Given the description of an element on the screen output the (x, y) to click on. 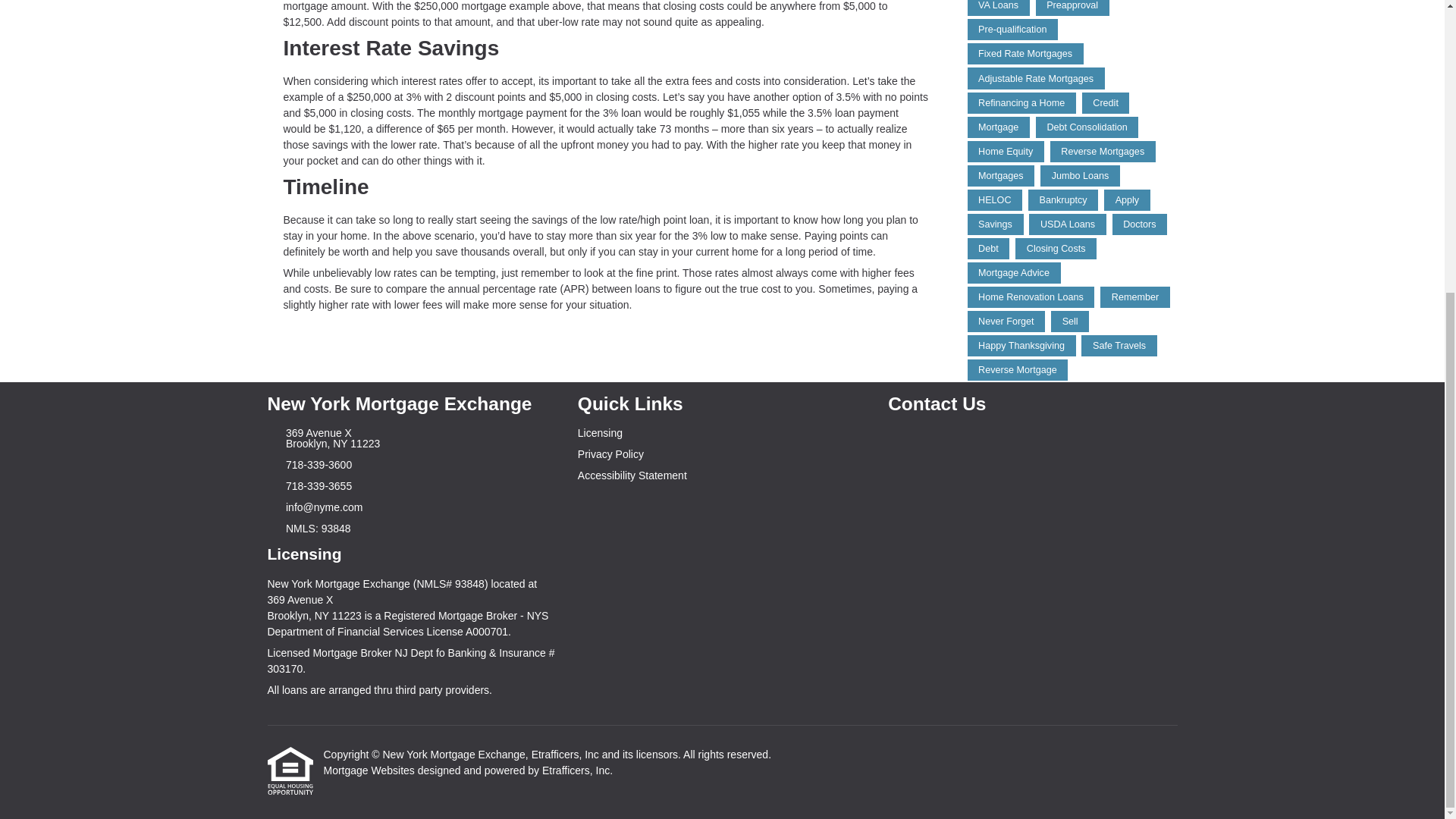
Debt Consolidation (1086, 127)
Home Equity (1005, 151)
Preapproval (1072, 7)
Fixed Rate Mortgages (1025, 53)
Refinancing a Home (1021, 102)
Mortgage (998, 127)
Pre-qualification (1013, 29)
Credit (1105, 102)
VA Loans (998, 7)
Adjustable Rate Mortgages (1036, 77)
